Given the description of an element on the screen output the (x, y) to click on. 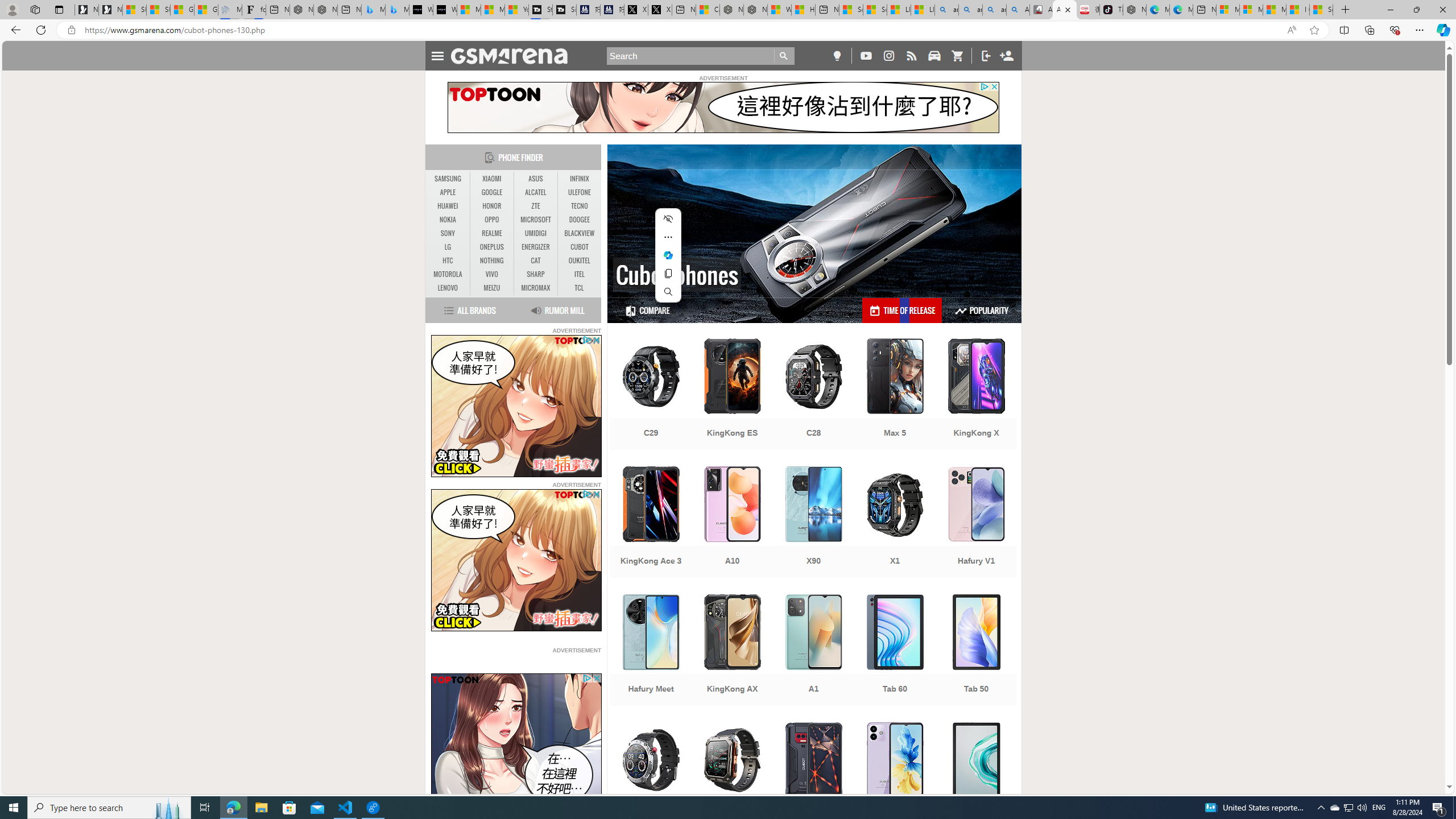
LG (448, 246)
Toggle Navigation (437, 53)
INFINIX (579, 178)
NOKIA (448, 219)
UMIDIGI (535, 233)
Search (668, 291)
DOOGEE (579, 219)
MICROSOFT (535, 219)
ENERGIZER (535, 246)
Newsletter Sign Up (110, 9)
Microsoft Start Sports (469, 9)
MICROSOFT (535, 219)
